Given the description of an element on the screen output the (x, y) to click on. 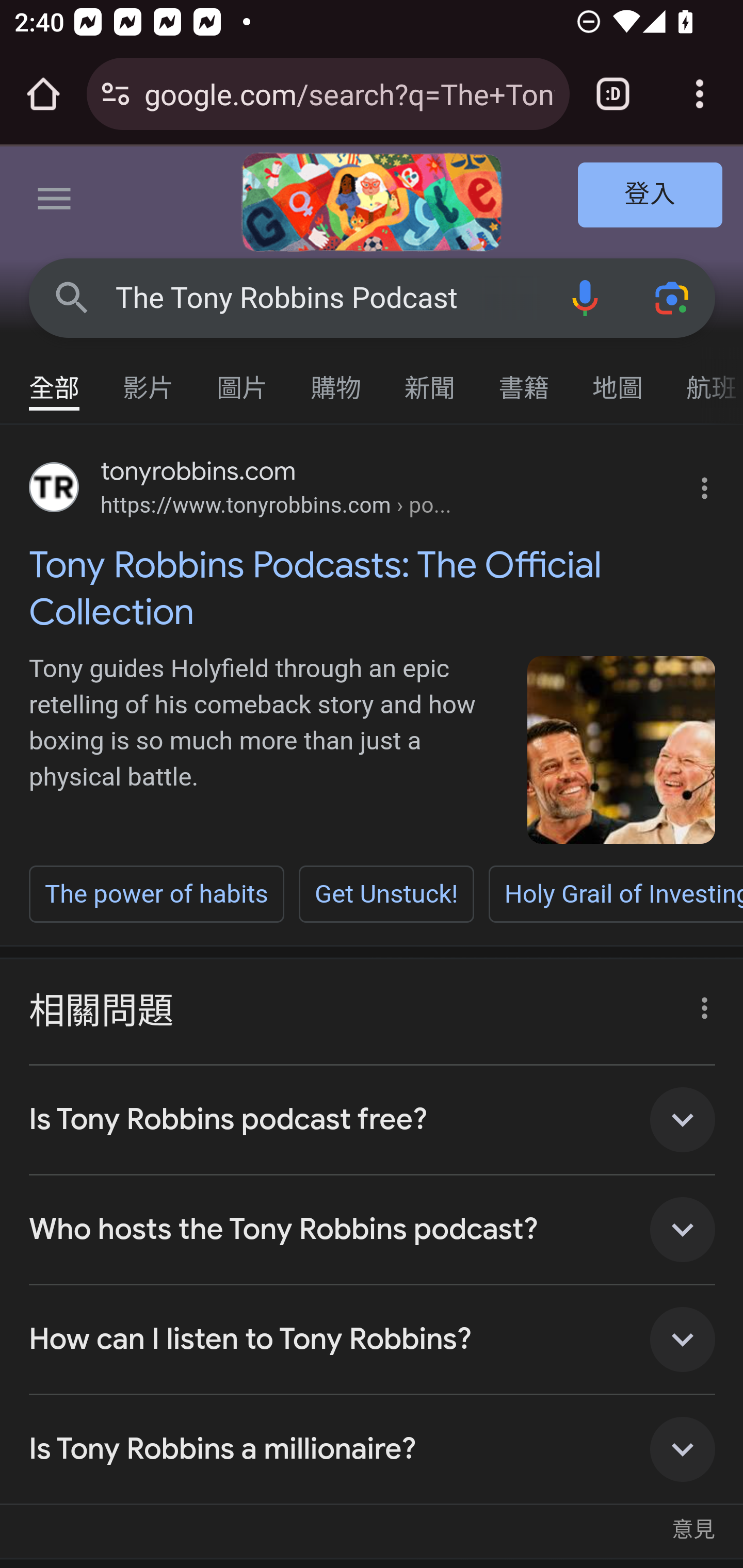
Open the home page (43, 93)
Connection is secure (115, 93)
Switch or close tabs (612, 93)
Customize and control Google Chrome (699, 93)
2024 年國際婦女節 (371, 202)
主選單 (54, 202)
登入 (650, 195)
Google 搜尋 (71, 296)
使用相機或相片搜尋 (672, 296)
The Tony Robbins Podcast (328, 297)
影片 (148, 378)
圖片 (242, 378)
購物 (336, 378)
新聞 (430, 378)
書籍 (524, 378)
地圖 (618, 378)
航班 (703, 378)
Tony Robbins Podcasts: The Official Collection (372, 587)
podcasts (621, 750)
The power of habits (156, 893)
Get Unstuck! (385, 893)
Holy Grail of Investing (615, 893)
關於此結果 (698, 1002)
Is Tony Robbins podcast free? (372, 1119)
Who hosts the Tony Robbins podcast? (372, 1229)
How can I listen to Tony Robbins? (372, 1340)
Is Tony Robbins a millionaire? (372, 1449)
意見 (693, 1519)
